Given the description of an element on the screen output the (x, y) to click on. 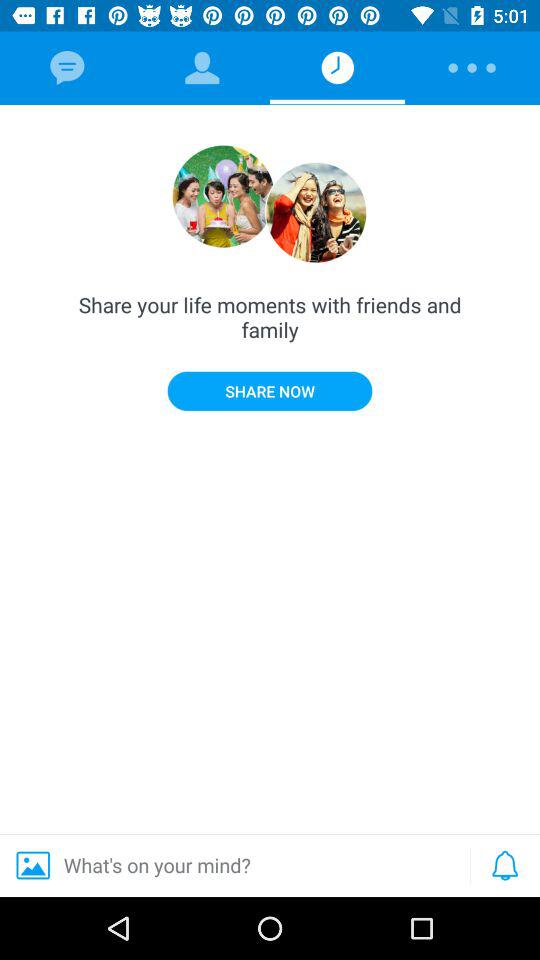
swipe until the what s on (232, 865)
